Given the description of an element on the screen output the (x, y) to click on. 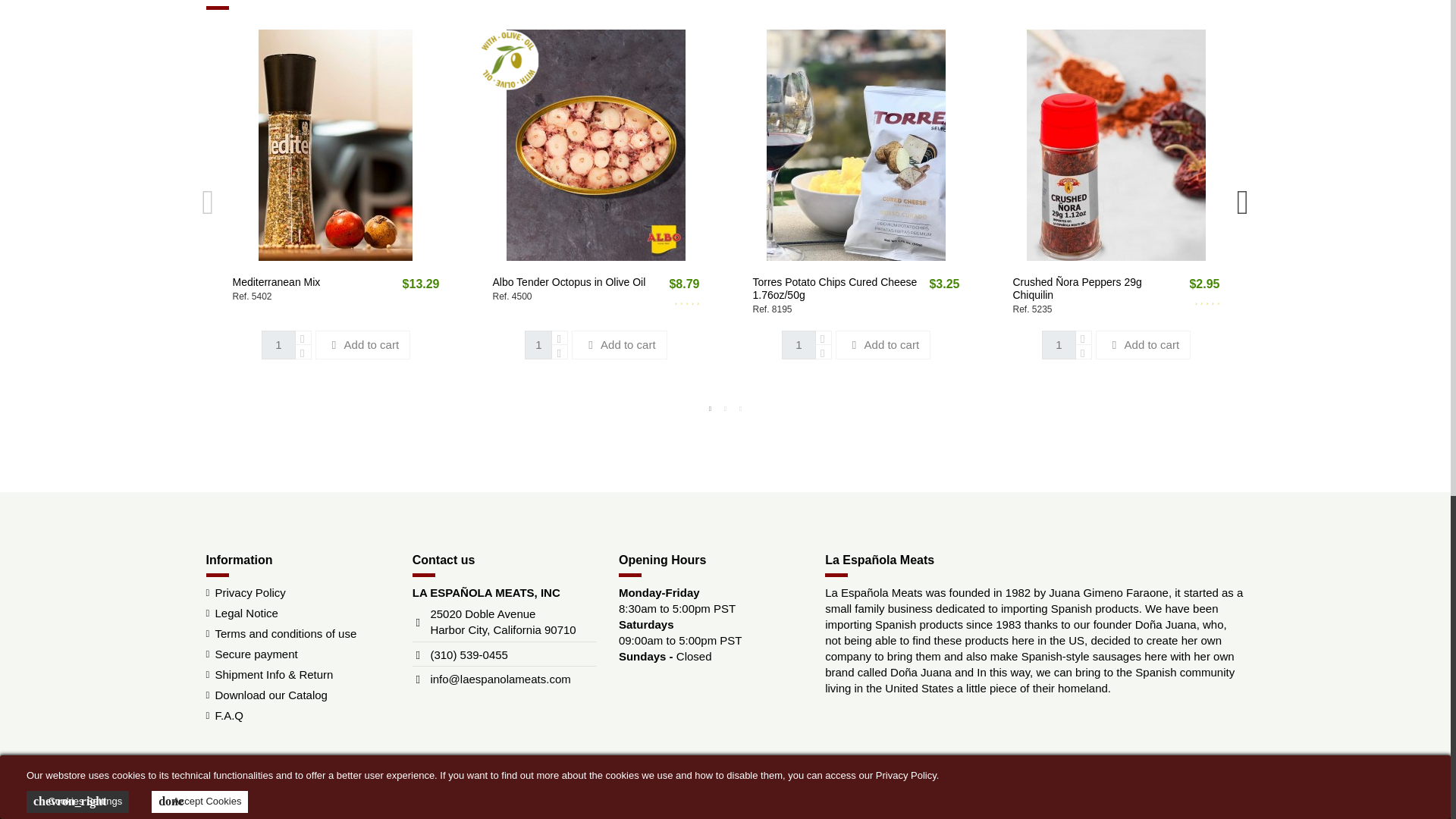
1 (1058, 345)
1 (798, 345)
1 (278, 345)
1 (537, 345)
